Given the description of an element on the screen output the (x, y) to click on. 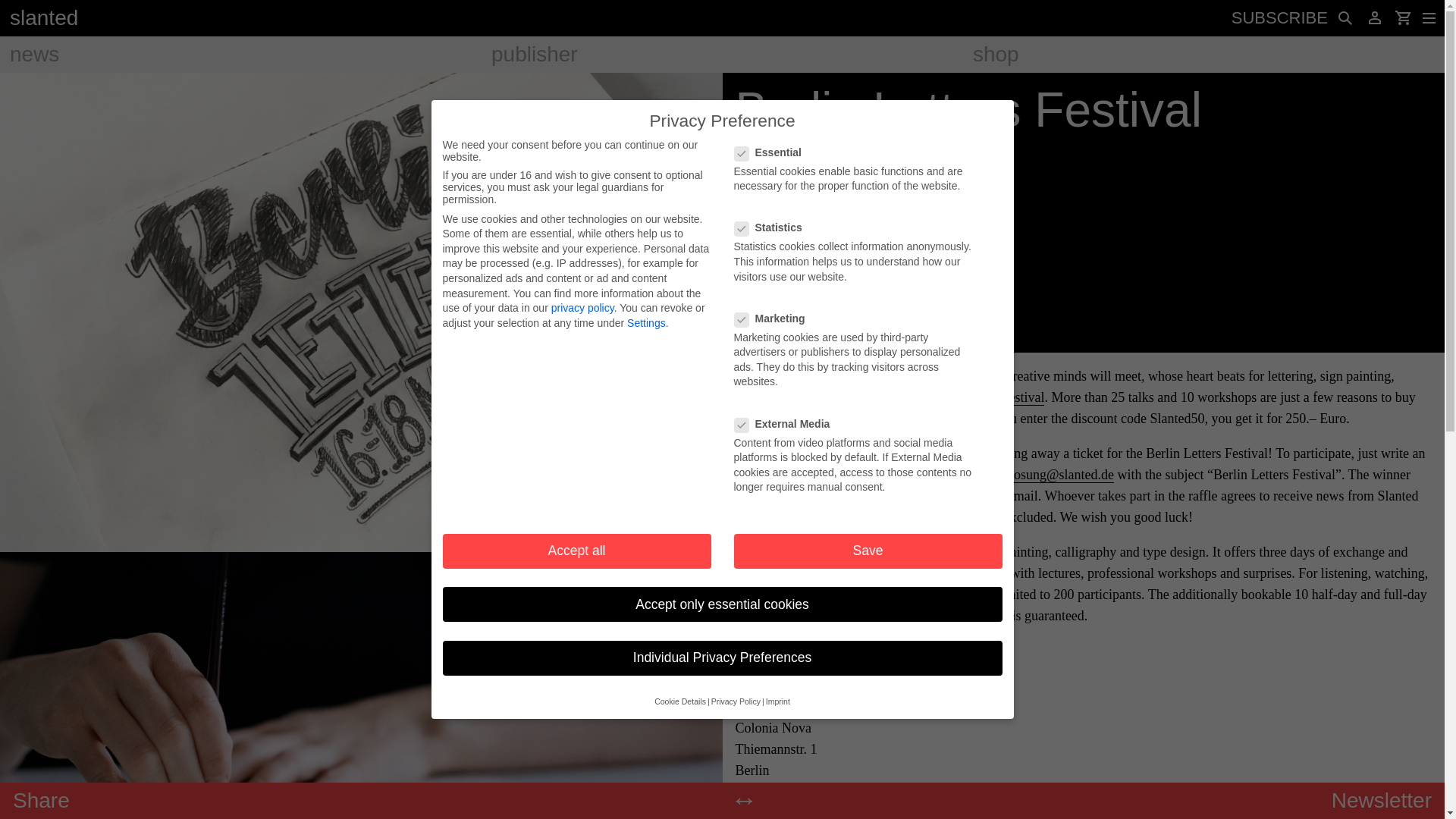
subscribe (1279, 18)
SUBSCRIBE (1279, 18)
slanted (39, 17)
Share (41, 800)
